Given the description of an element on the screen output the (x, y) to click on. 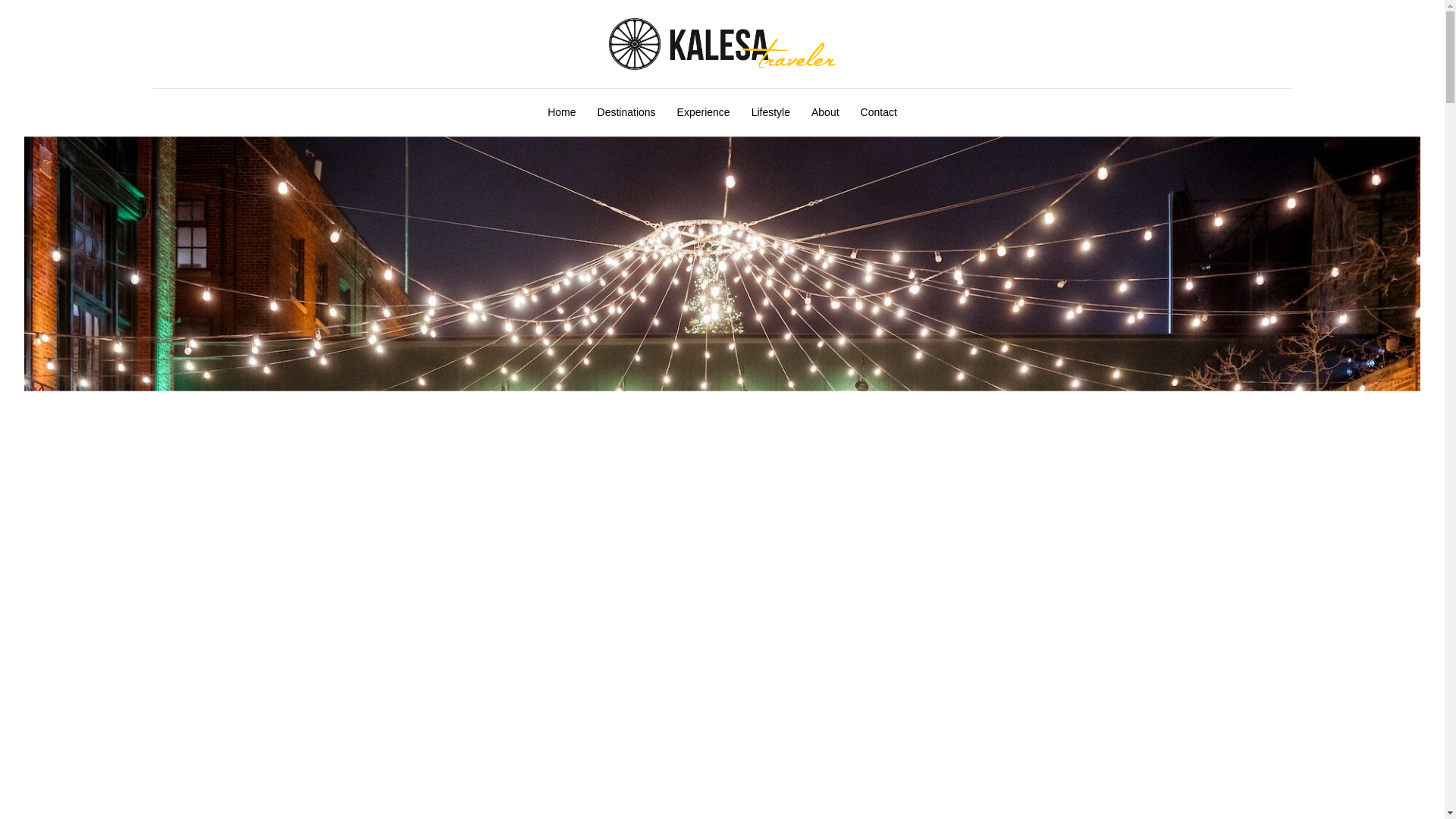
DESTINATIONS (336, 816)
Lifestyle (770, 111)
Contact (878, 111)
Experience (703, 111)
View all posts in Destinations (336, 816)
Home (561, 111)
Destinations (626, 111)
About (825, 111)
